Given the description of an element on the screen output the (x, y) to click on. 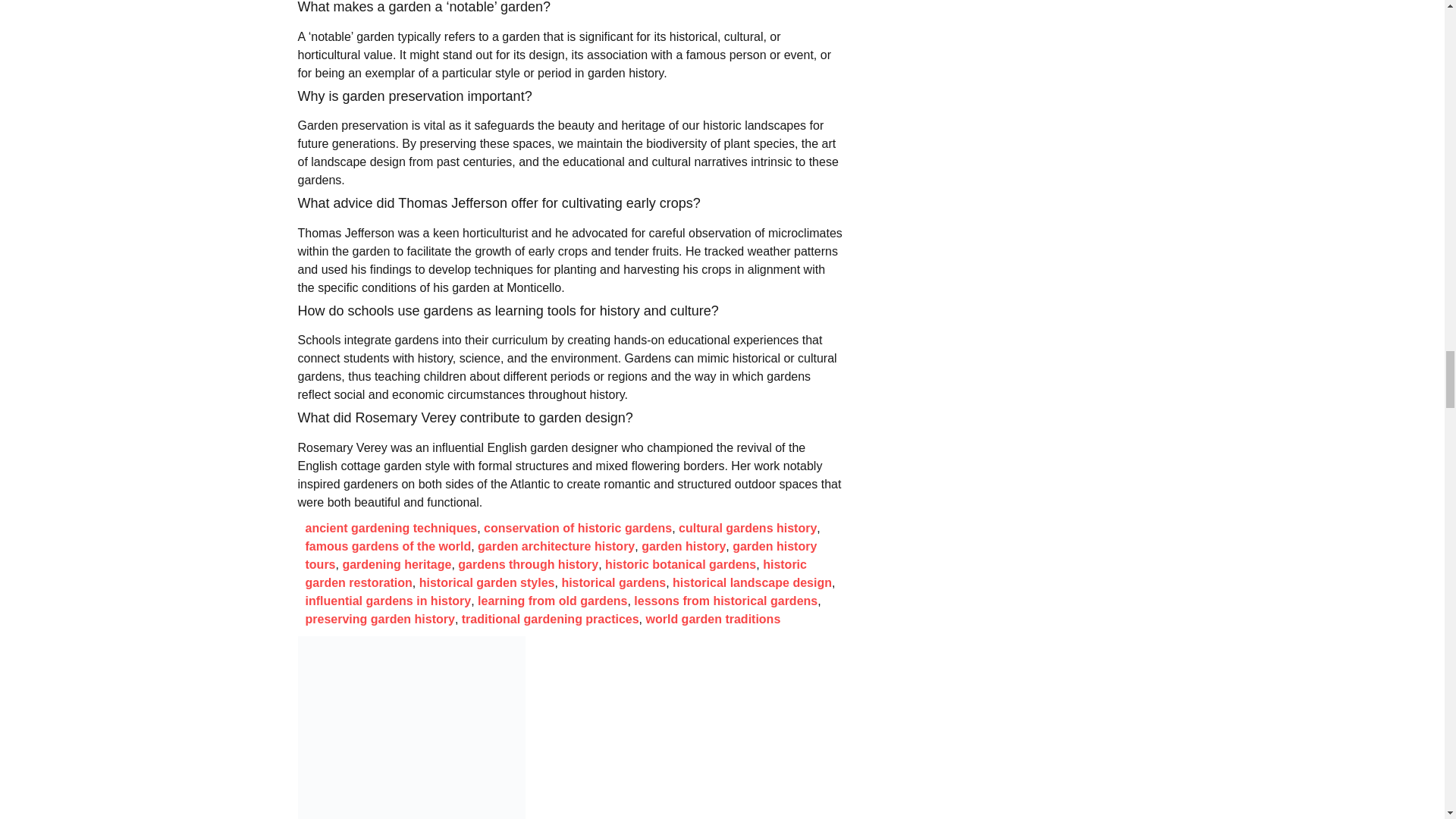
historical garden styles (486, 582)
lessons from historical gardens (724, 600)
traditional gardening practices (550, 618)
famous gardens of the world (387, 545)
preserving garden history (379, 618)
garden architecture history (555, 545)
historical gardens (612, 582)
influential gardens in history (387, 600)
garden history (683, 545)
ancient gardening techniques (390, 527)
